Given the description of an element on the screen output the (x, y) to click on. 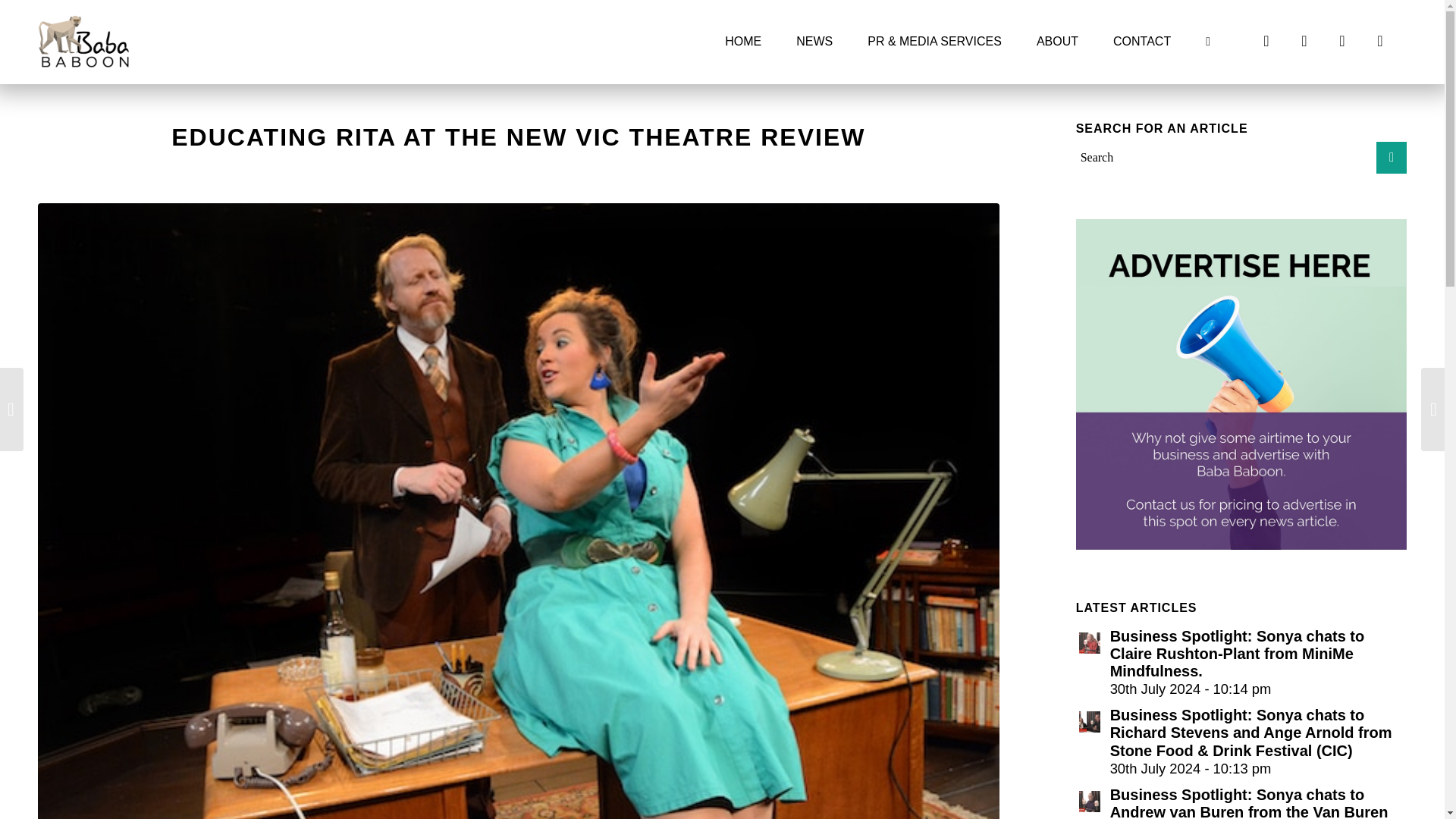
Twitter (1304, 40)
LinkedIn (1379, 40)
Facebook (1266, 40)
Instagram (1342, 40)
CONTACT (1141, 41)
